Given the description of an element on the screen output the (x, y) to click on. 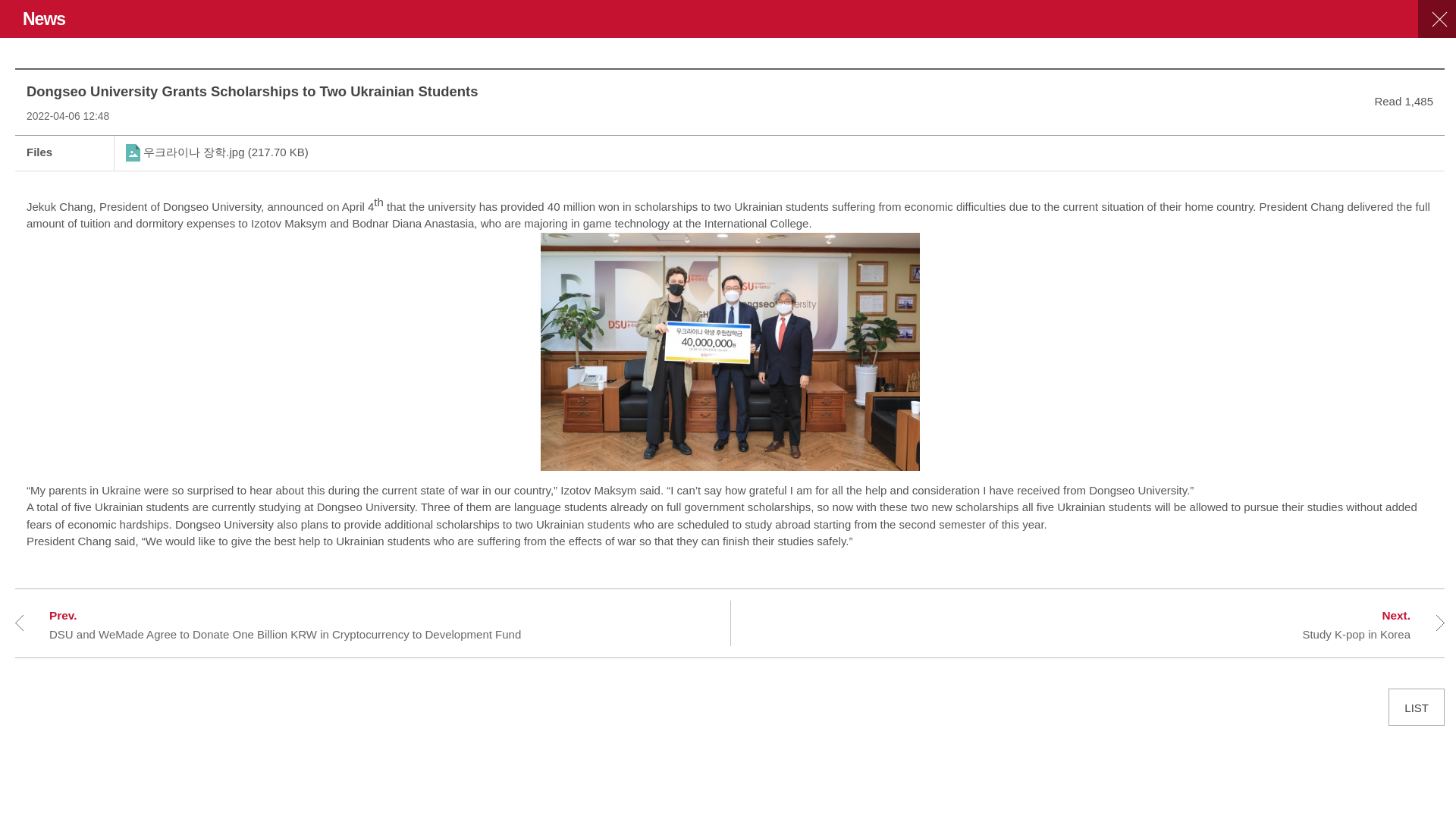
LIST (1115, 624)
